Given the description of an element on the screen output the (x, y) to click on. 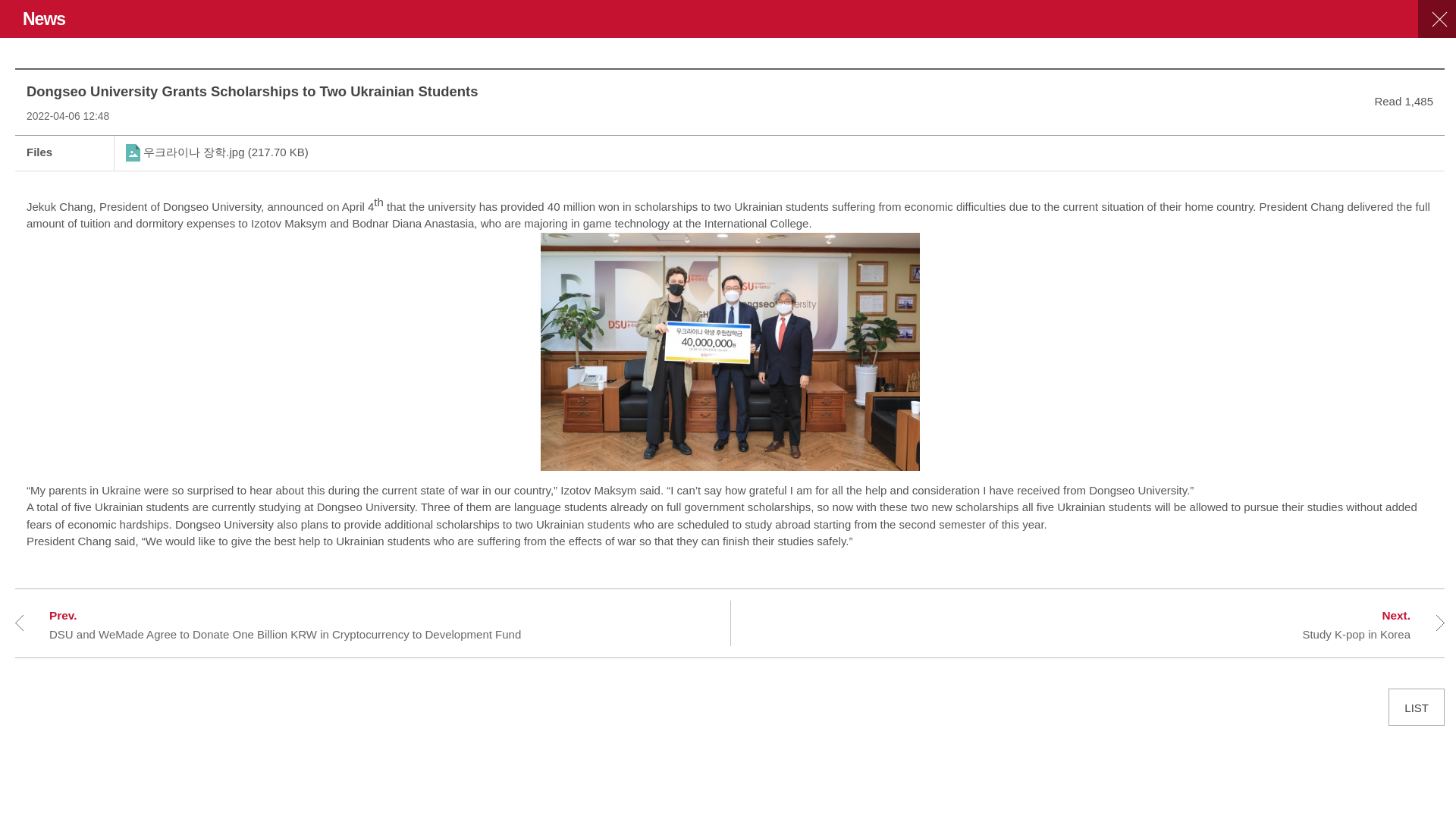
LIST (1115, 624)
